Given the description of an element on the screen output the (x, y) to click on. 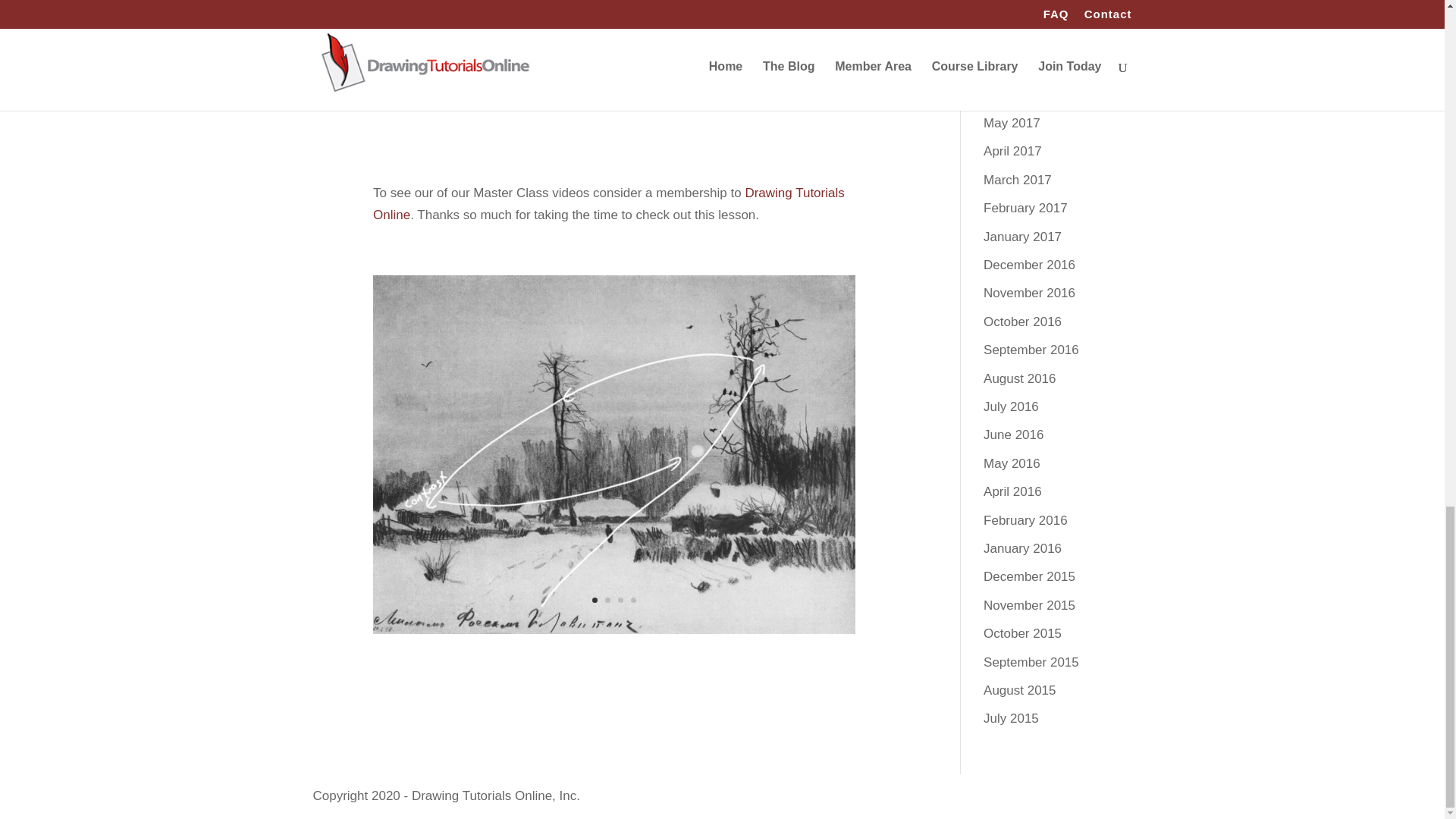
village-winter-18881 (614, 633)
Drawing Tutorials Online (608, 203)
Compose Your Landscape Sketches (614, 67)
